Given the description of an element on the screen output the (x, y) to click on. 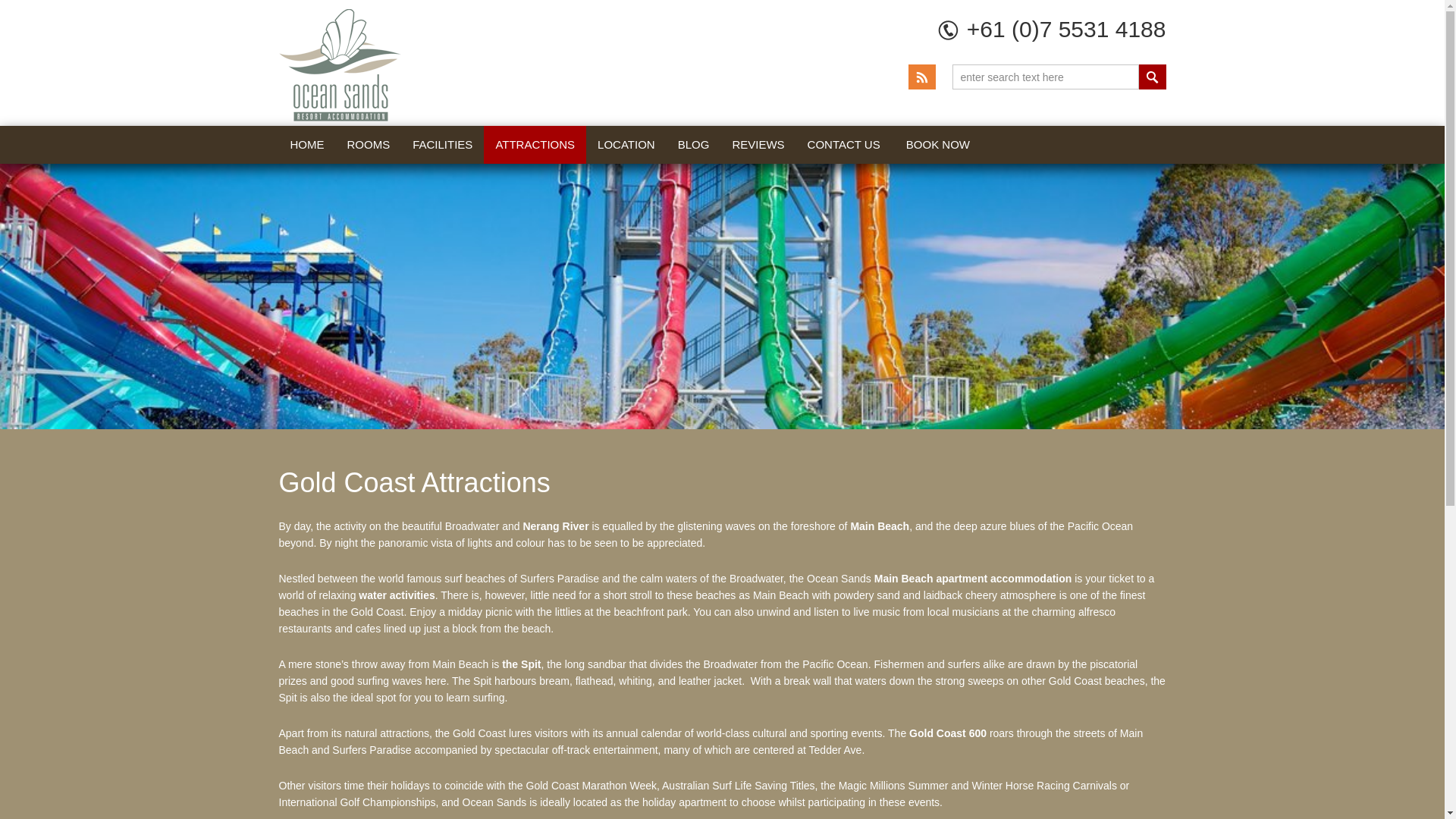
BOOK NOW (938, 144)
REVIEWS (757, 144)
BLOG (693, 144)
CONTACT US (843, 144)
enter search text here (1045, 76)
HOME (307, 144)
Submit (1152, 76)
ROOMS (367, 144)
LOCATION (626, 144)
Main Beach apartment accommodation (973, 578)
FACILITIES (442, 144)
ATTRACTIONS (534, 144)
